Given the description of an element on the screen output the (x, y) to click on. 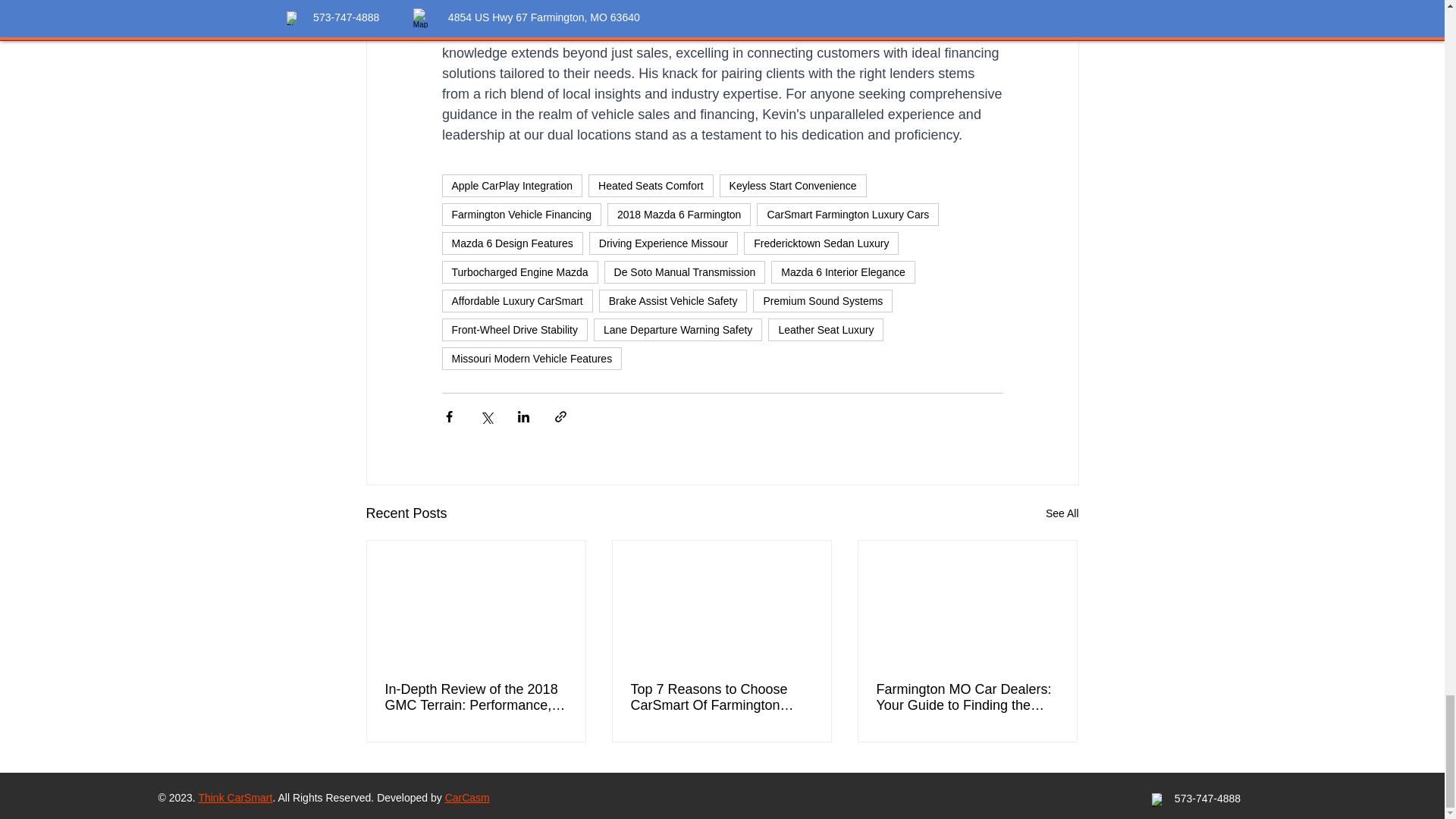
De Soto Manual Transmission (684, 272)
Apple CarPlay Integration (511, 185)
Affordable Luxury CarSmart (516, 300)
Mazda 6 Design Features (511, 242)
Premium Sound Systems (822, 300)
CarSmart Farmington Luxury Cars (848, 214)
Leather Seat Luxury (825, 329)
Farmington Vehicle Financing (520, 214)
Driving Experience Missour (663, 242)
2018 Mazda 6 Farmington (679, 214)
Front-Wheel Drive Stability (514, 329)
Brake Assist Vehicle Safety (673, 300)
Heated Seats Comfort (650, 185)
Turbocharged Engine Mazda (518, 272)
